Given the description of an element on the screen output the (x, y) to click on. 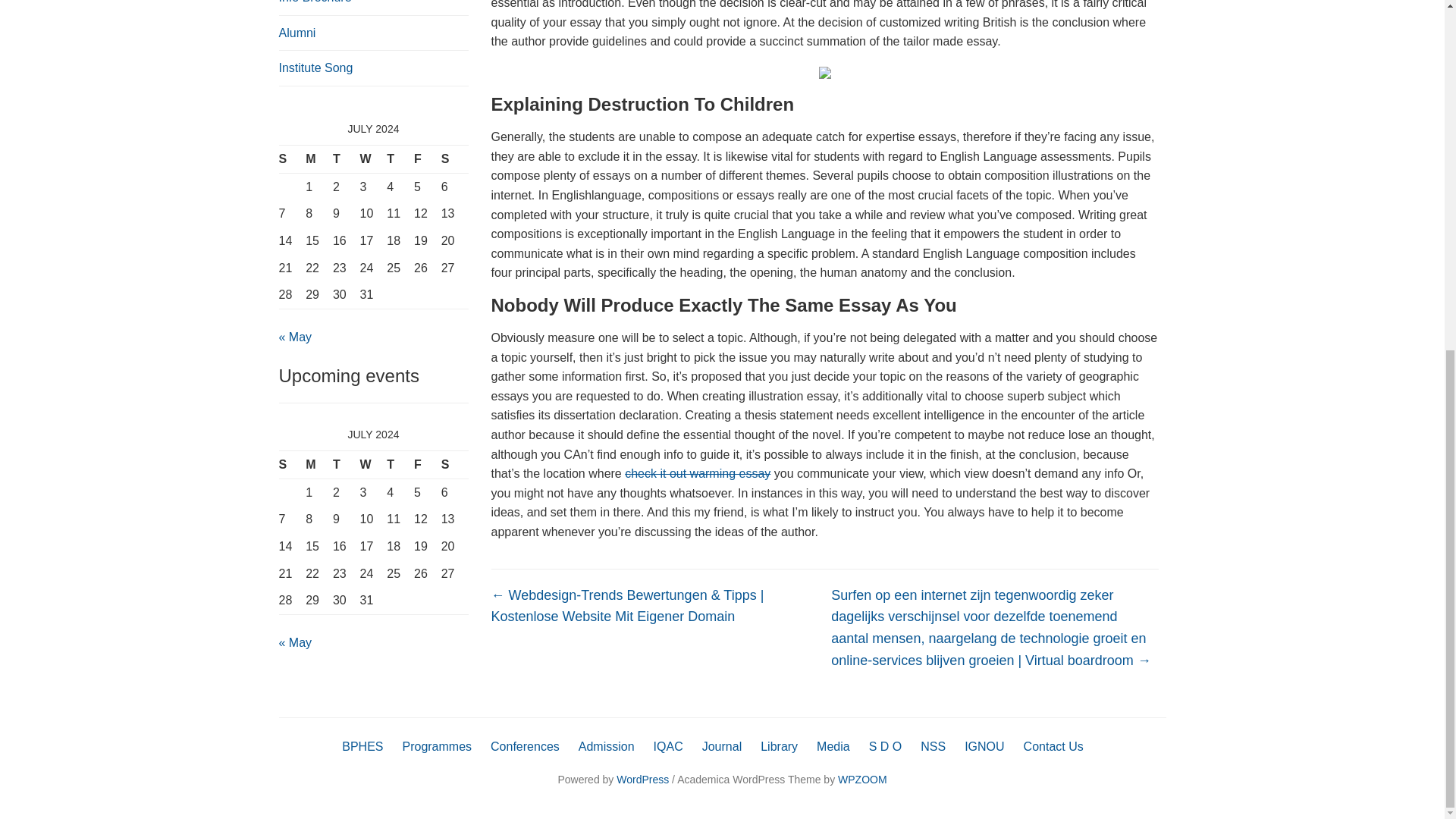
Monday (319, 159)
Friday (427, 159)
Saturday (454, 465)
Monday (319, 465)
Saturday (454, 159)
Sunday (292, 465)
Thursday (400, 465)
Tuesday (346, 465)
Sunday (292, 159)
Tuesday (346, 159)
Wednesday (373, 159)
Friday (427, 465)
Wednesday (373, 465)
Thursday (400, 159)
